Given the description of an element on the screen output the (x, y) to click on. 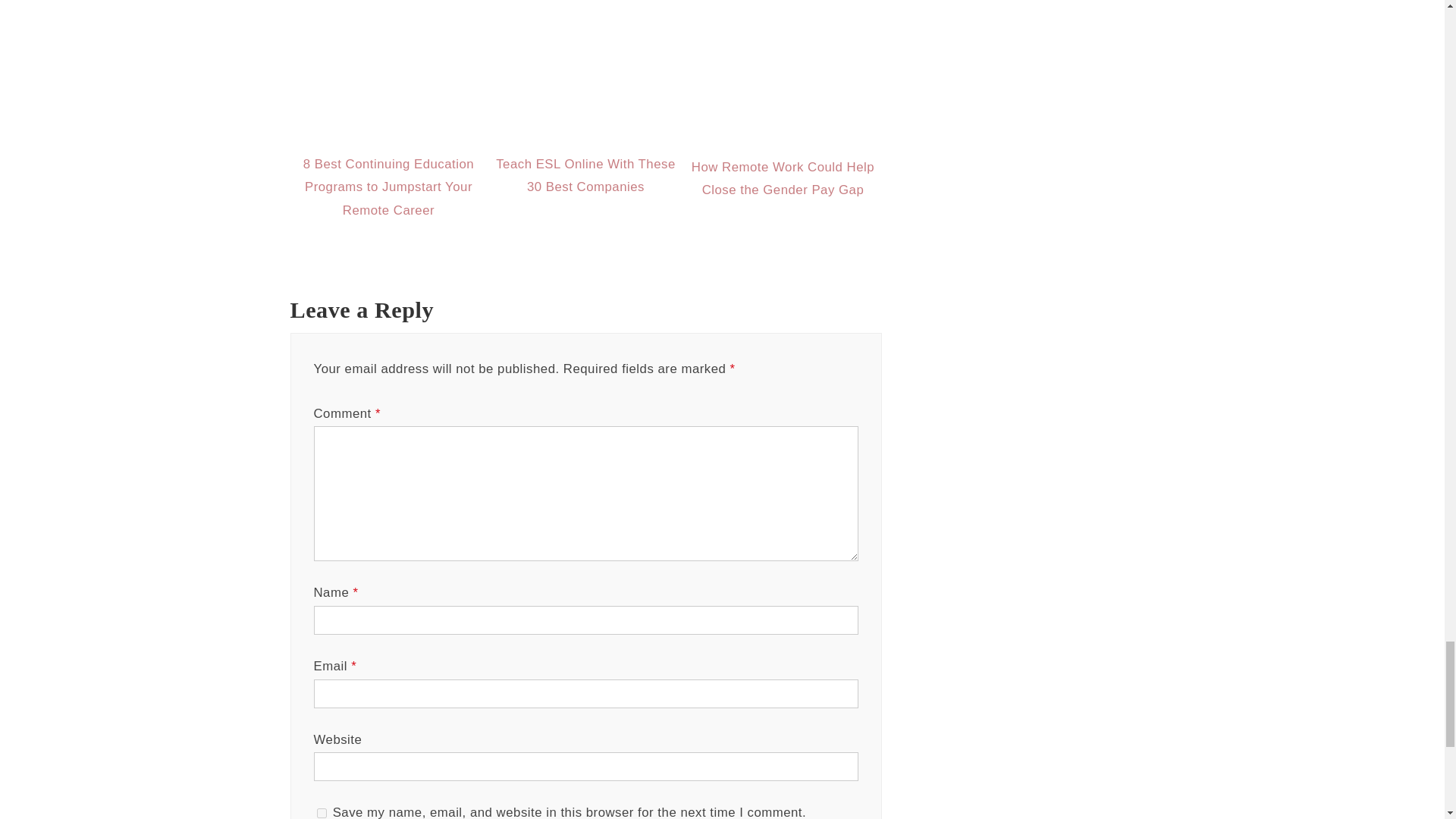
yes (321, 813)
